Given the description of an element on the screen output the (x, y) to click on. 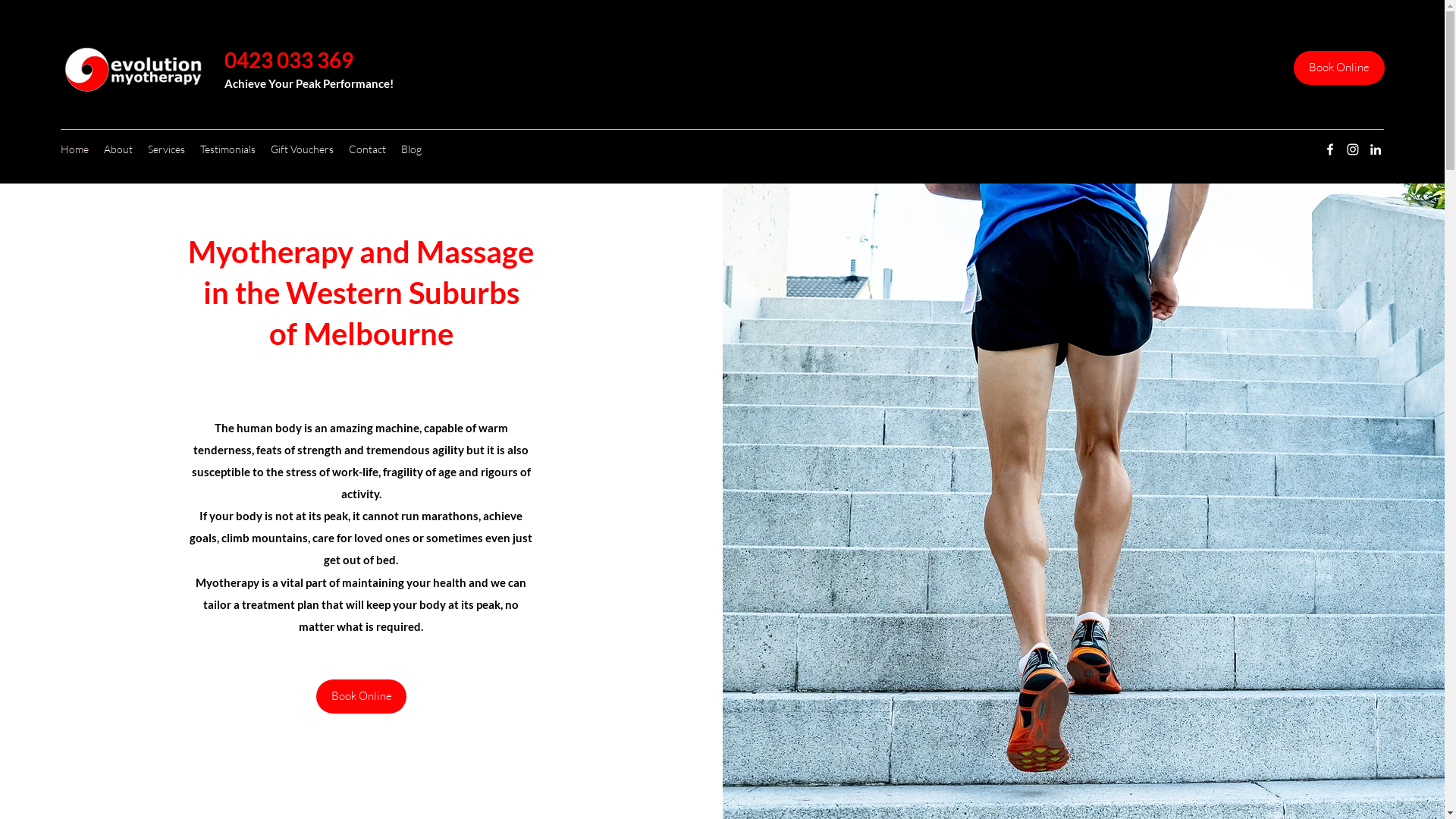
Home Element type: text (74, 149)
Testimonials Element type: text (227, 149)
Book Online Element type: text (1338, 67)
Blog Element type: text (411, 149)
Book Online Element type: text (361, 696)
Gift Vouchers Element type: text (302, 149)
About Element type: text (118, 149)
Contact Element type: text (367, 149)
Services Element type: text (166, 149)
